Given the description of an element on the screen output the (x, y) to click on. 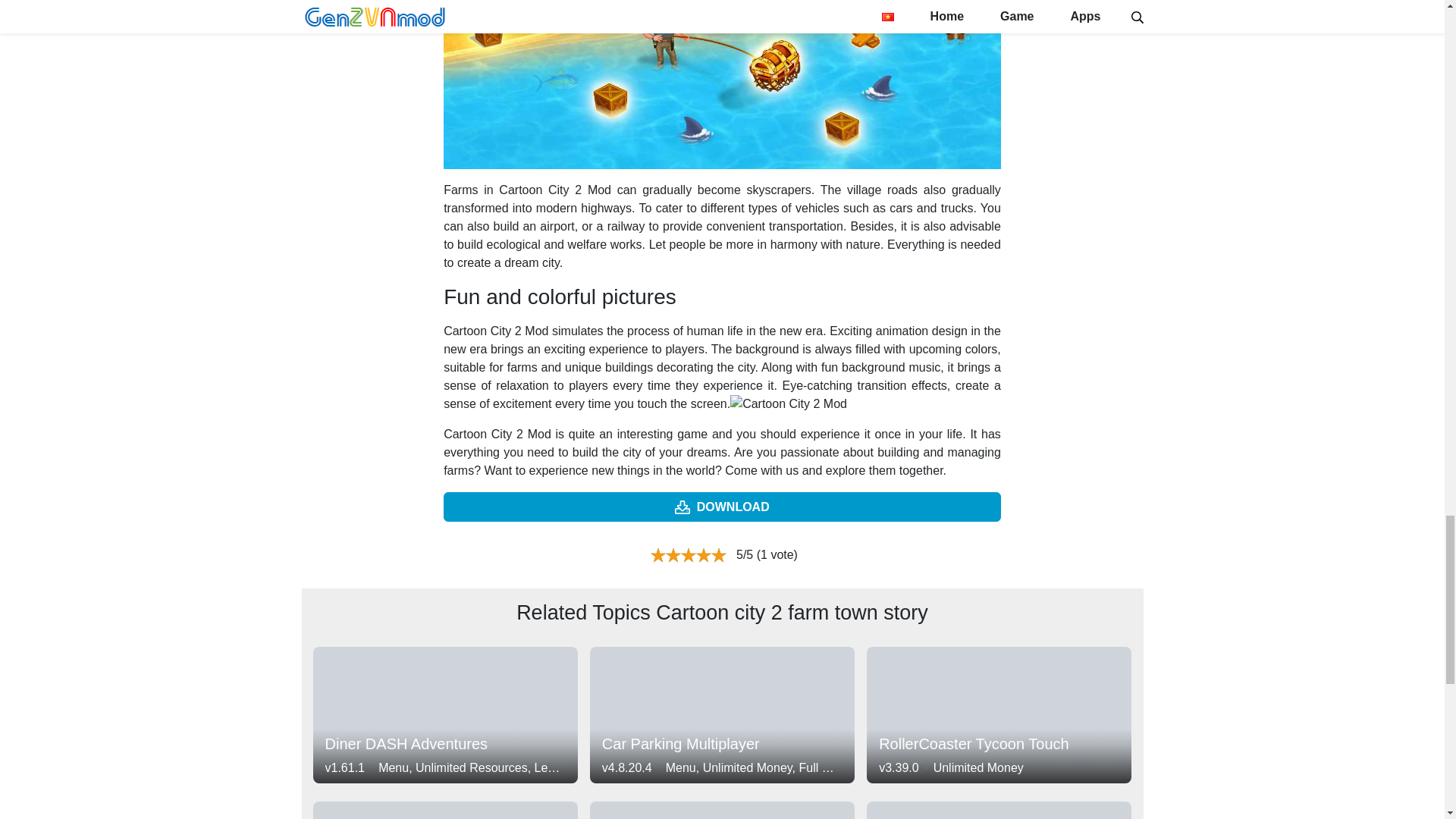
DOWNLOAD (998, 714)
